Given the description of an element on the screen output the (x, y) to click on. 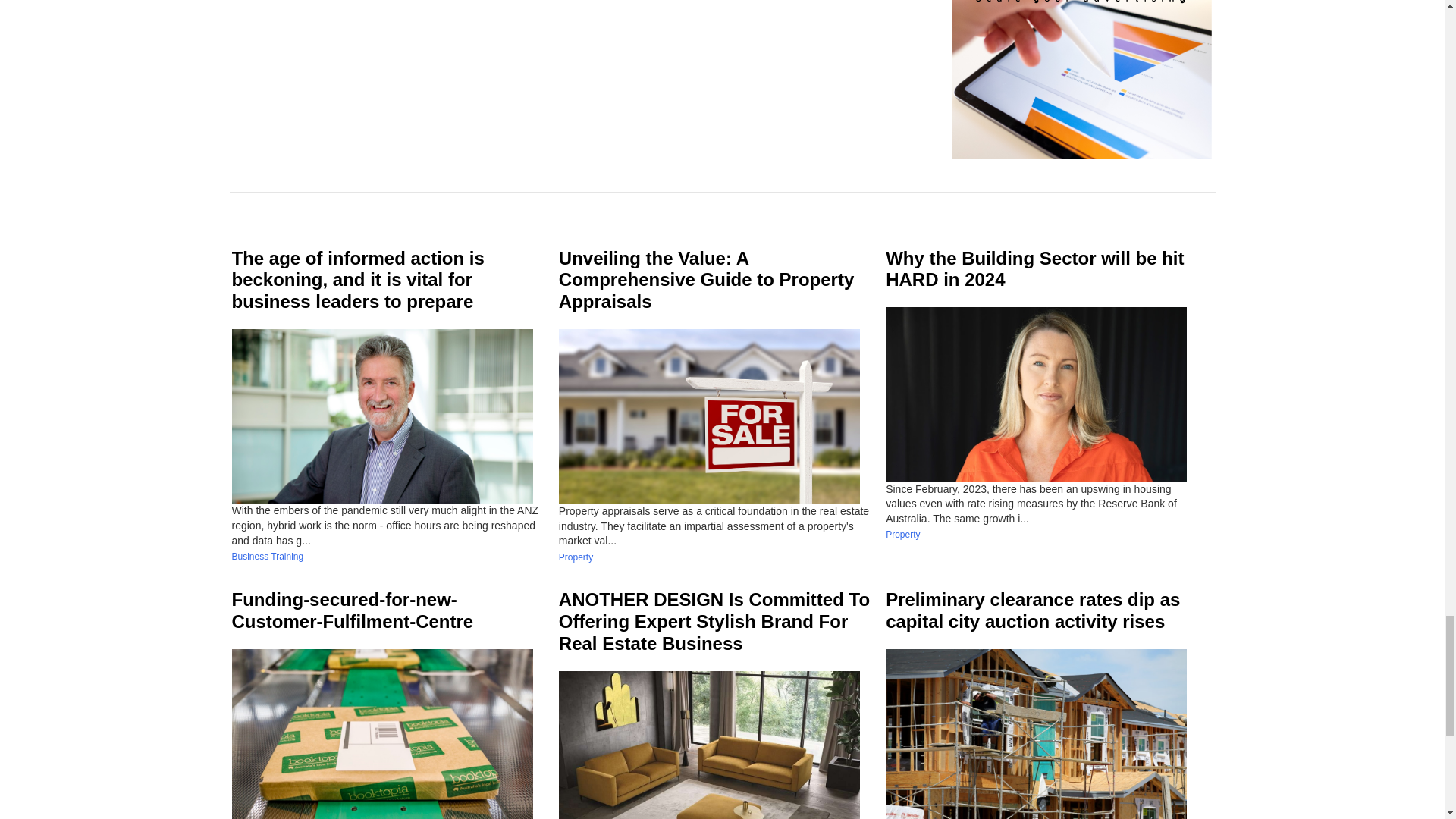
Funding-secured-for-new-Customer-Fulfilment-Centre (352, 609)
Why the Building Sector will be hit HARD in 2024 (1034, 269)
